Given the description of an element on the screen output the (x, y) to click on. 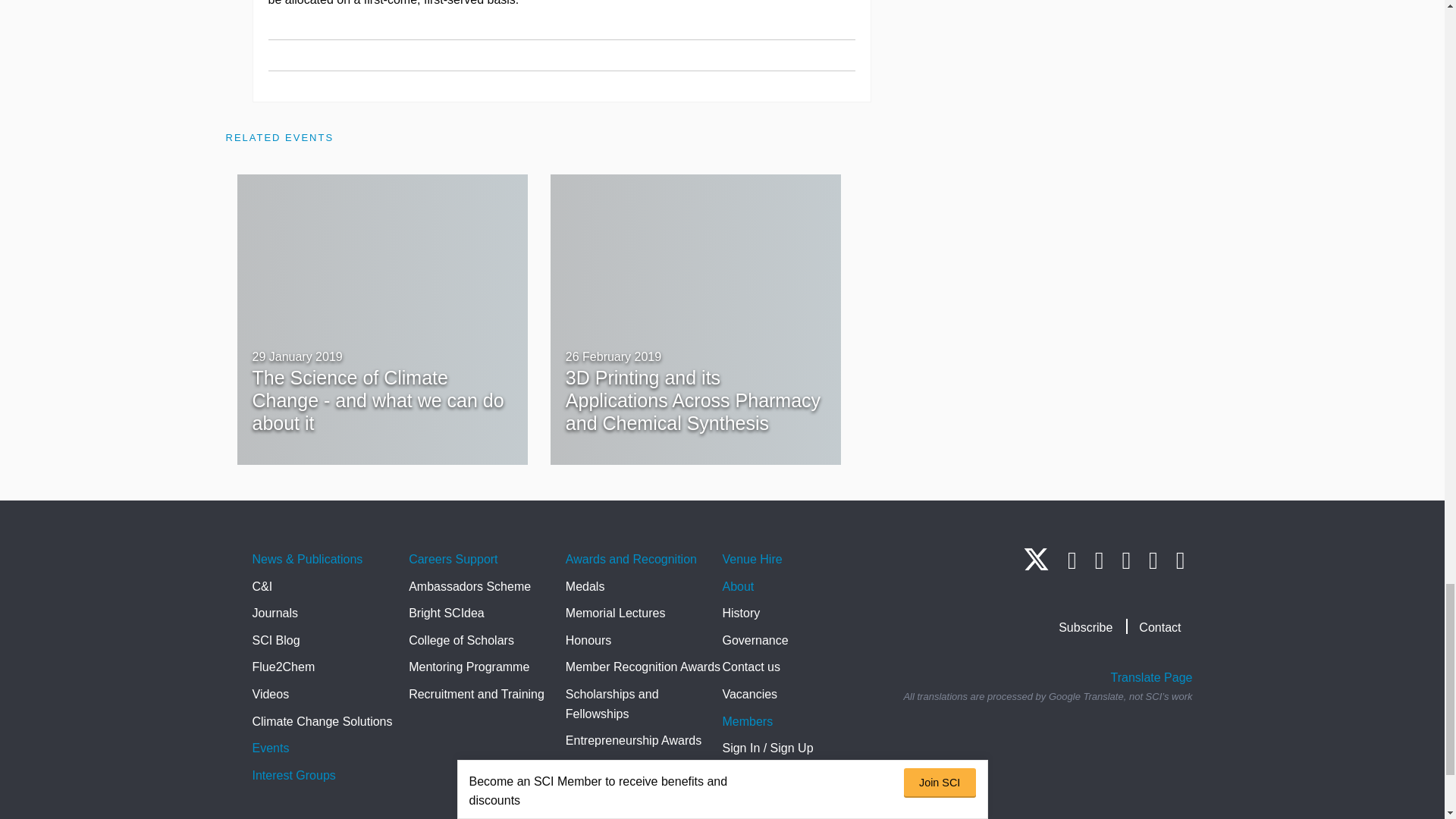
Twitter (1036, 566)
Instagram (1098, 559)
LinkedIn (1072, 559)
